Given the description of an element on the screen output the (x, y) to click on. 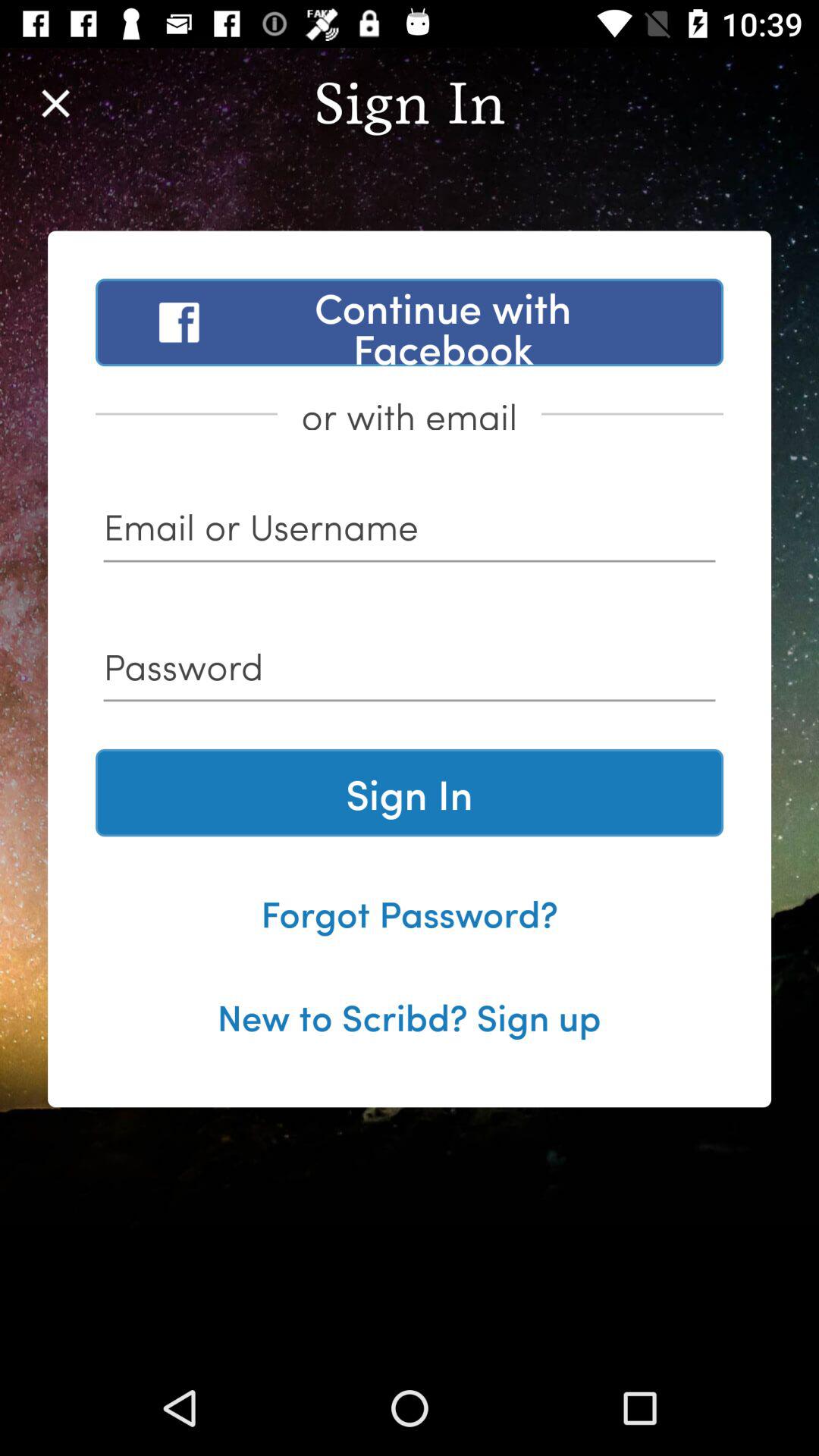
turn off the icon above continue with facebook (55, 103)
